Given the description of an element on the screen output the (x, y) to click on. 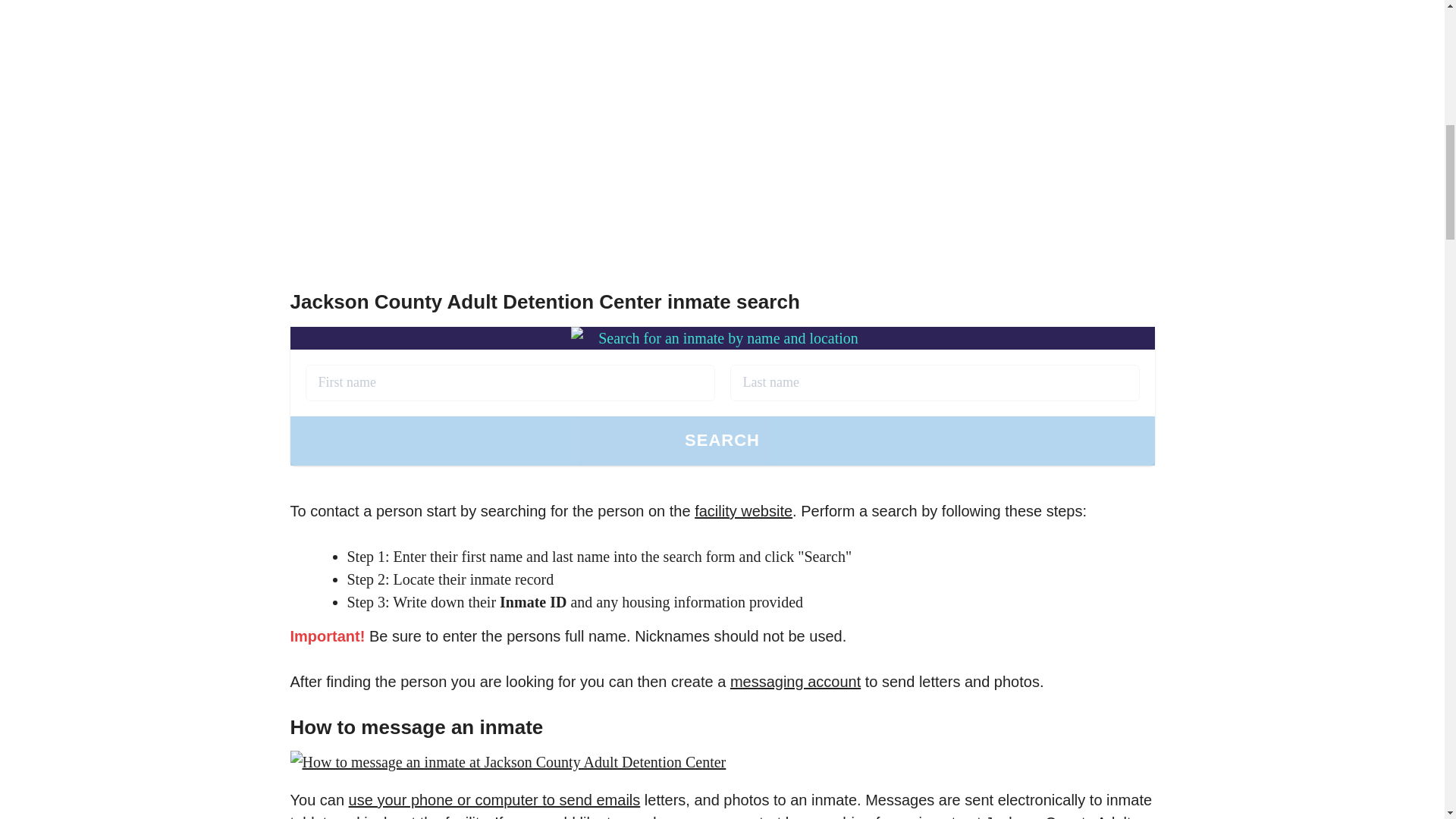
messaging account (795, 681)
SEARCH (721, 441)
use your phone or computer to send emails (494, 799)
Contact an inmate  at Jackson County Adult Detention Center (501, 122)
facility website (743, 510)
